Given the description of an element on the screen output the (x, y) to click on. 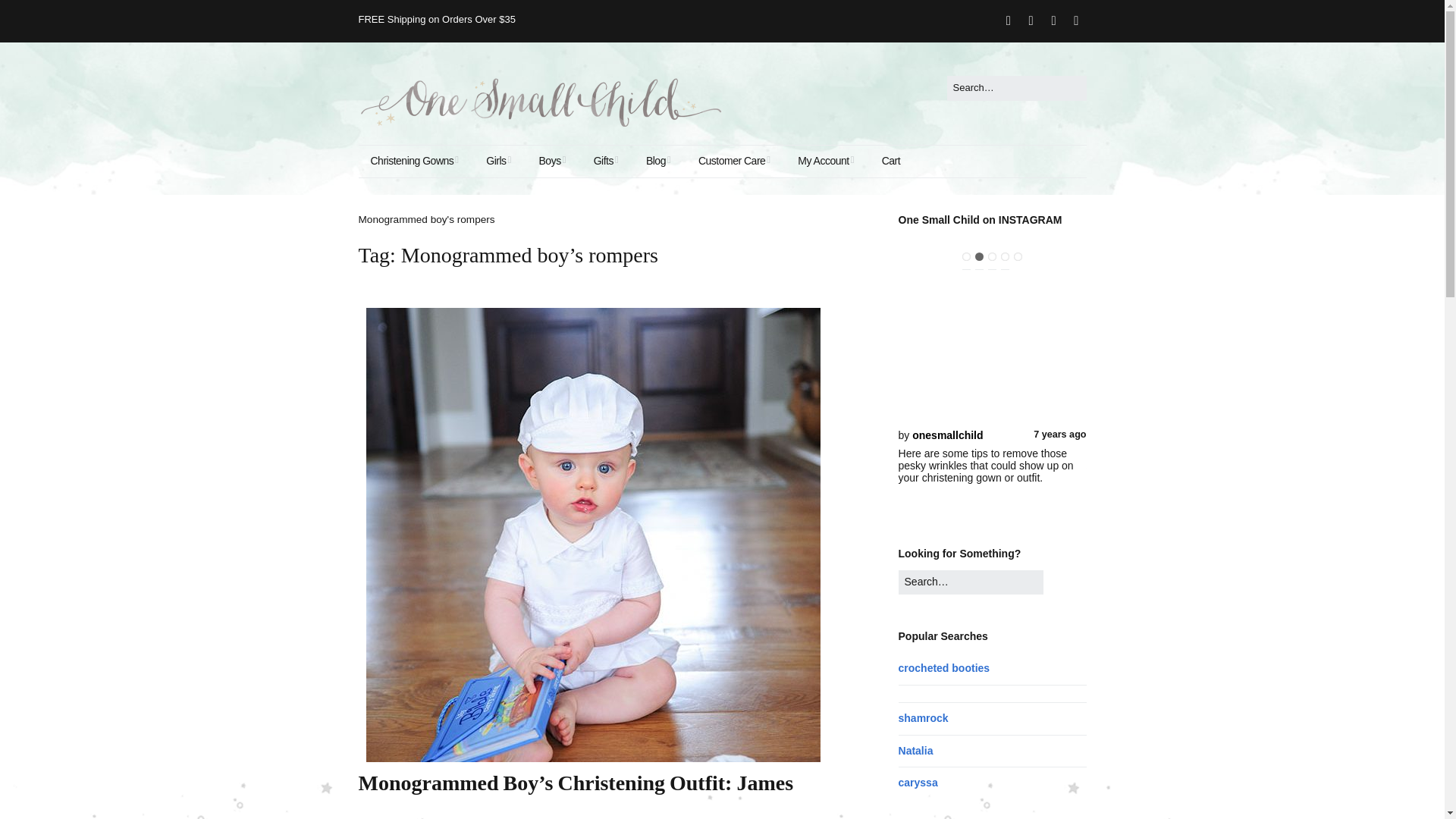
Press Enter to submit your search (970, 582)
Boys (552, 161)
Christening Gowns (414, 161)
Search (34, 15)
Press Enter to submit your search (1016, 88)
Girls (498, 161)
Gifts (605, 161)
